Given the description of an element on the screen output the (x, y) to click on. 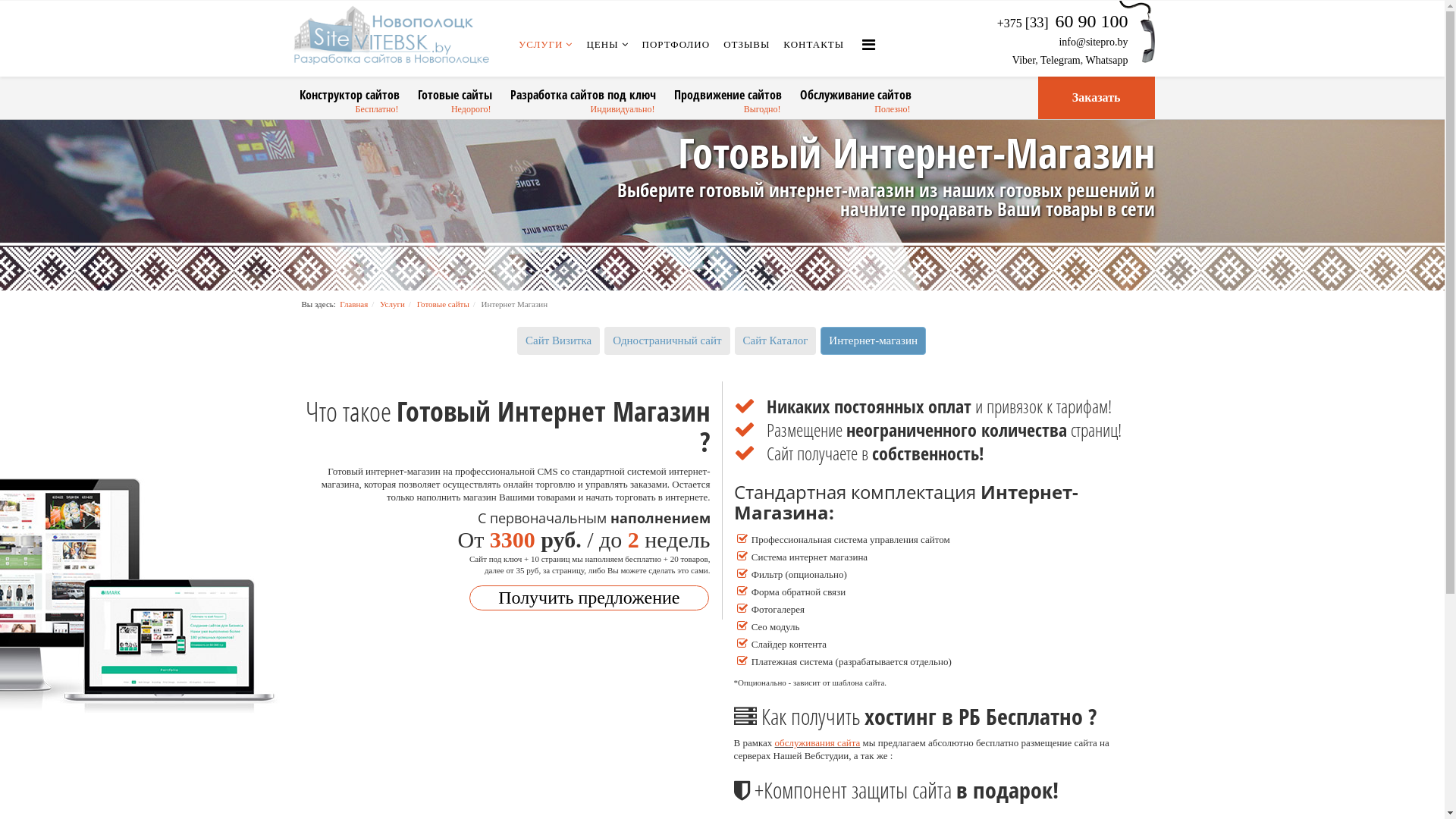
Telegram Element type: text (1060, 59)
Viber Element type: text (1023, 59)
Whatsapp Element type: text (1106, 59)
+375 [33]  60 90 100 Element type: text (1062, 22)
info@sitepro.by Element type: text (1092, 41)
